Given the description of an element on the screen output the (x, y) to click on. 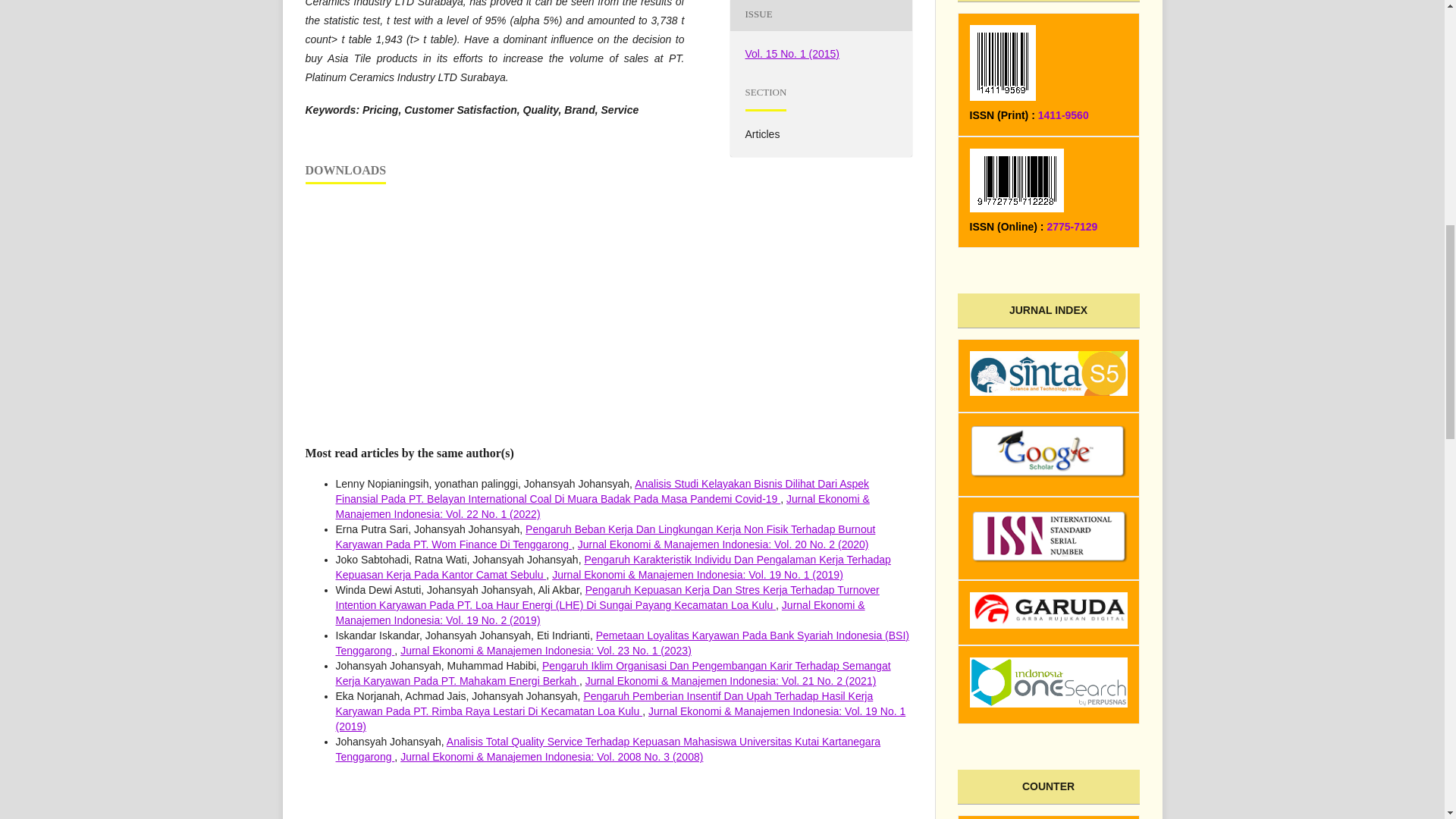
garuda (1047, 623)
issn (1047, 558)
